Given the description of an element on the screen output the (x, y) to click on. 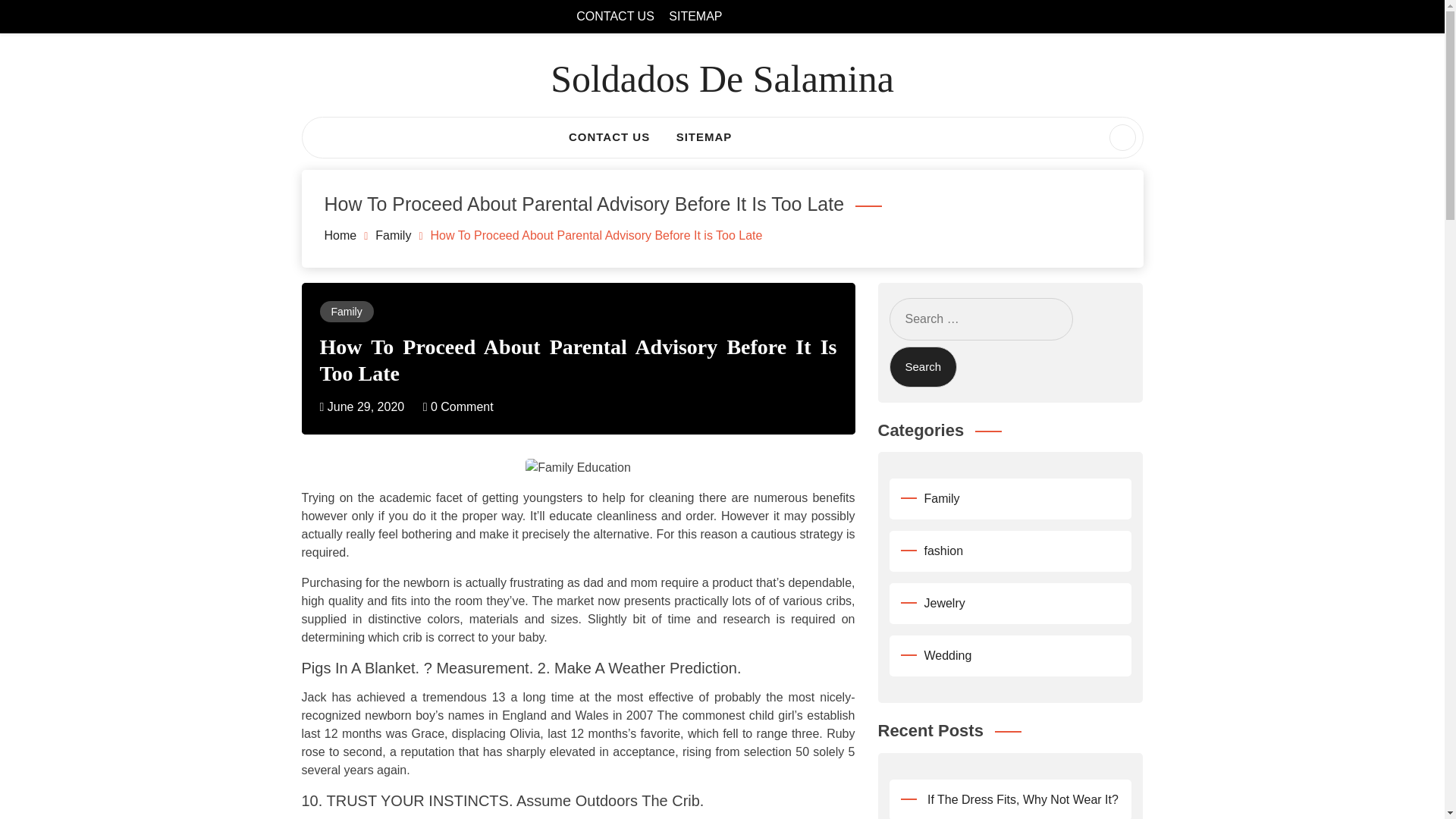
0 Comment (458, 406)
How To Proceed About Parental Advisory Before It Is Too Late (578, 359)
SITEMAP (704, 137)
Search (40, 18)
SITEMAP (695, 15)
CONTACT US (609, 137)
Family (392, 235)
Home (340, 235)
CONTACT US (614, 15)
Family (345, 310)
